Given the description of an element on the screen output the (x, y) to click on. 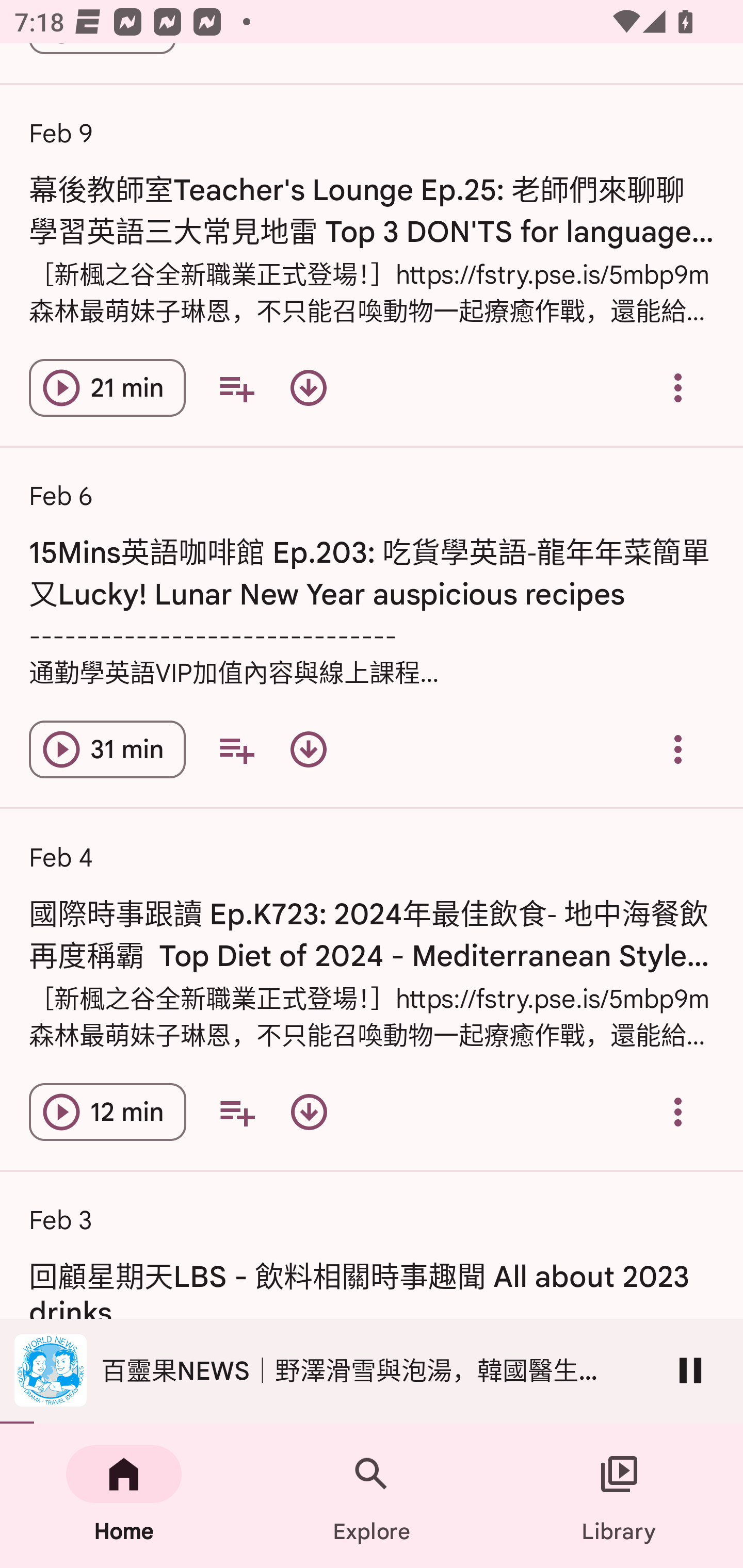
Add to your queue (235, 387)
Download episode (308, 387)
Overflow menu (677, 387)
Add to your queue (235, 749)
Download episode (308, 749)
Overflow menu (677, 749)
Add to your queue (236, 1112)
Download episode (308, 1112)
Overflow menu (677, 1112)
Pause (690, 1370)
Explore (371, 1495)
Library (619, 1495)
